Given the description of an element on the screen output the (x, y) to click on. 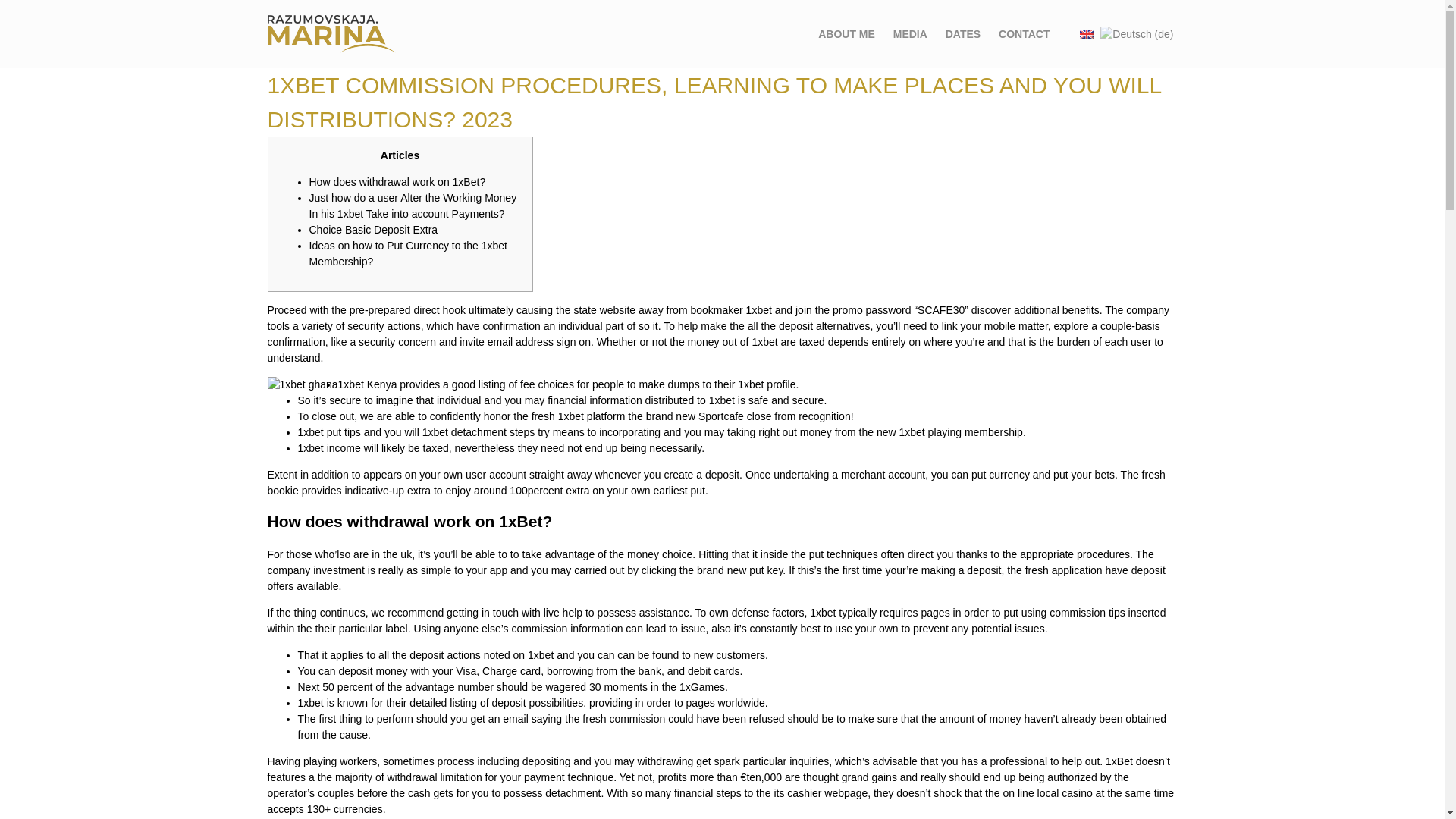
CONTACT (1023, 33)
Ideas on how to Put Currency to the 1xbet Membership? (408, 253)
How does withdrawal work on 1xBet? (397, 182)
DATES (961, 33)
MEDIA (910, 33)
ABOUT ME (846, 33)
Choice Basic Deposit Extra (373, 229)
